Given the description of an element on the screen output the (x, y) to click on. 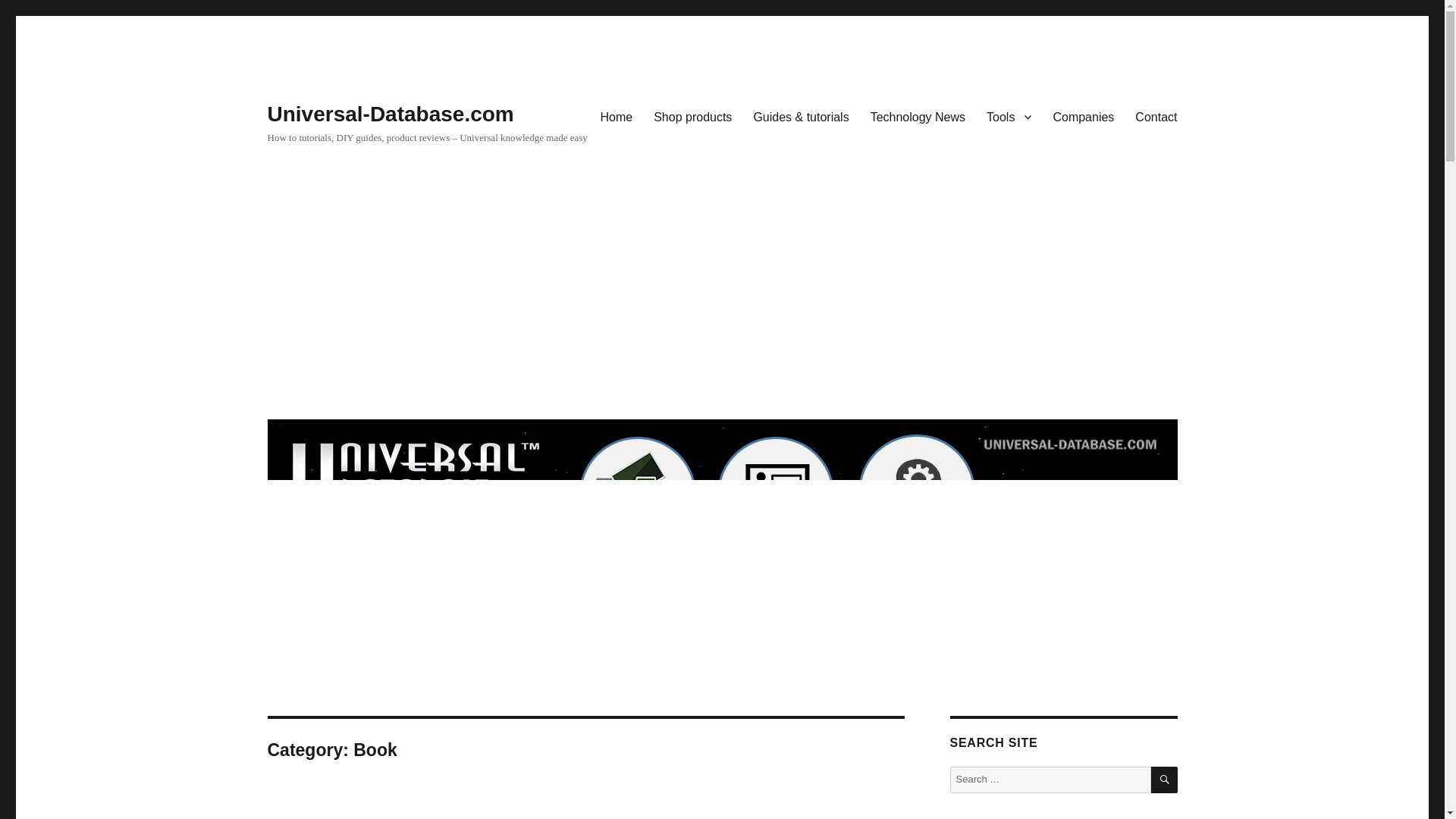
Shop products (692, 116)
SEARCH (1164, 779)
Contact (1156, 116)
Technology News (917, 116)
Universal-Database.com (389, 114)
Home (616, 116)
Companies (1083, 116)
Tools (1008, 116)
